Given the description of an element on the screen output the (x, y) to click on. 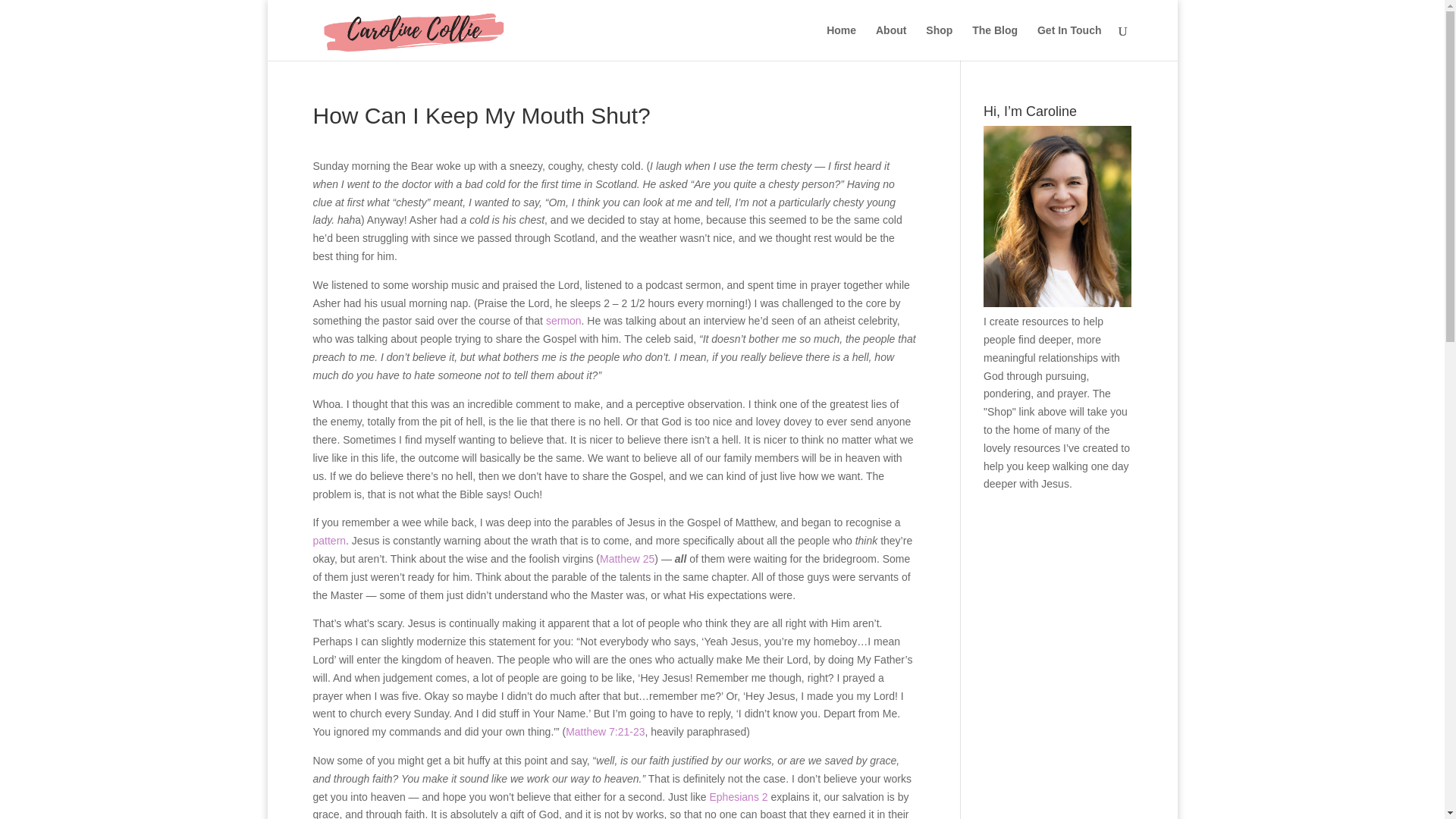
Matthew 7:21-23 (605, 731)
The Blog (994, 42)
Ephesians 2 (739, 796)
Matthew 25 (626, 558)
pattern (329, 540)
Get In Touch (1069, 42)
sermon (563, 320)
